Given the description of an element on the screen output the (x, y) to click on. 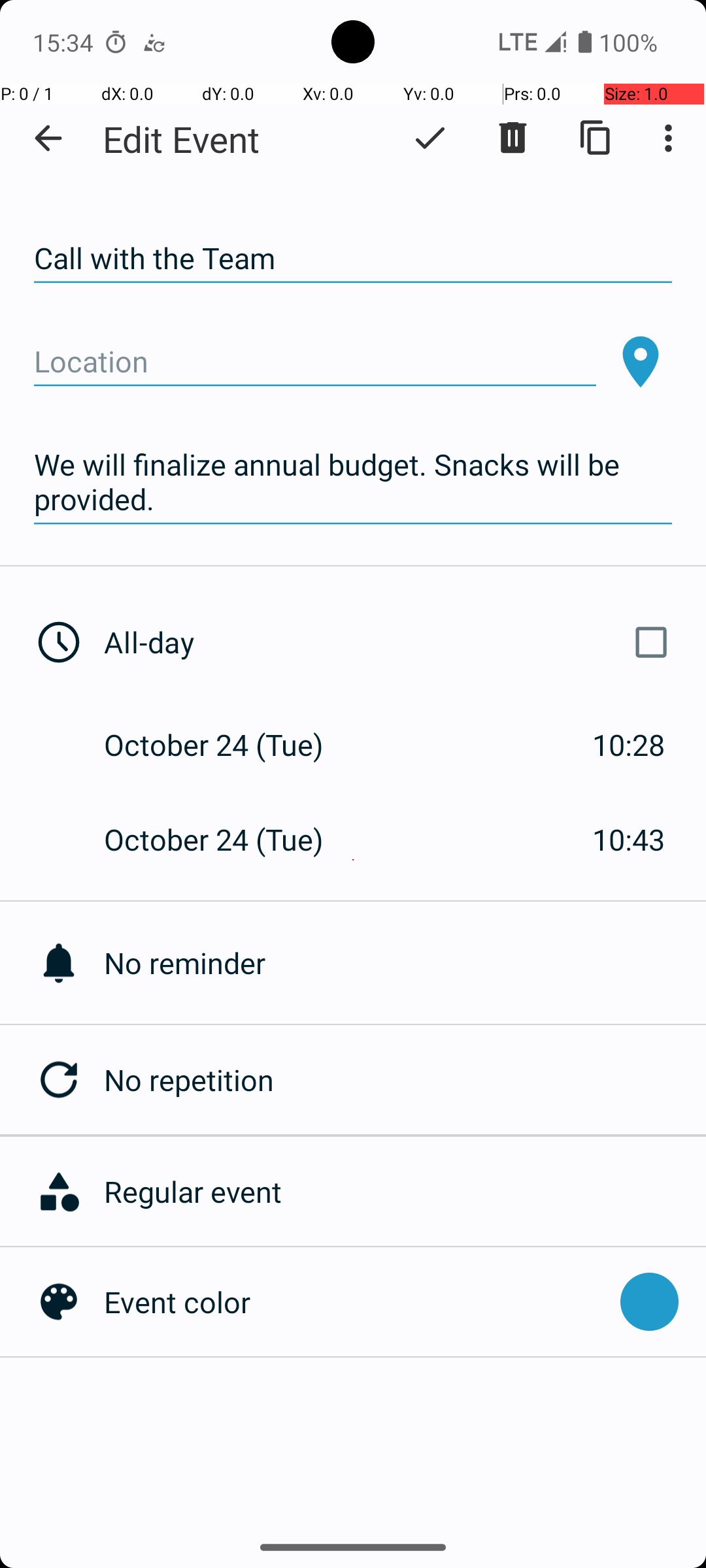
We will finalize annual budget. Snacks will be provided. Element type: android.widget.EditText (352, 482)
October 24 (Tue) Element type: android.widget.TextView (227, 744)
10:28 Element type: android.widget.TextView (628, 744)
10:43 Element type: android.widget.TextView (628, 838)
